Given the description of an element on the screen output the (x, y) to click on. 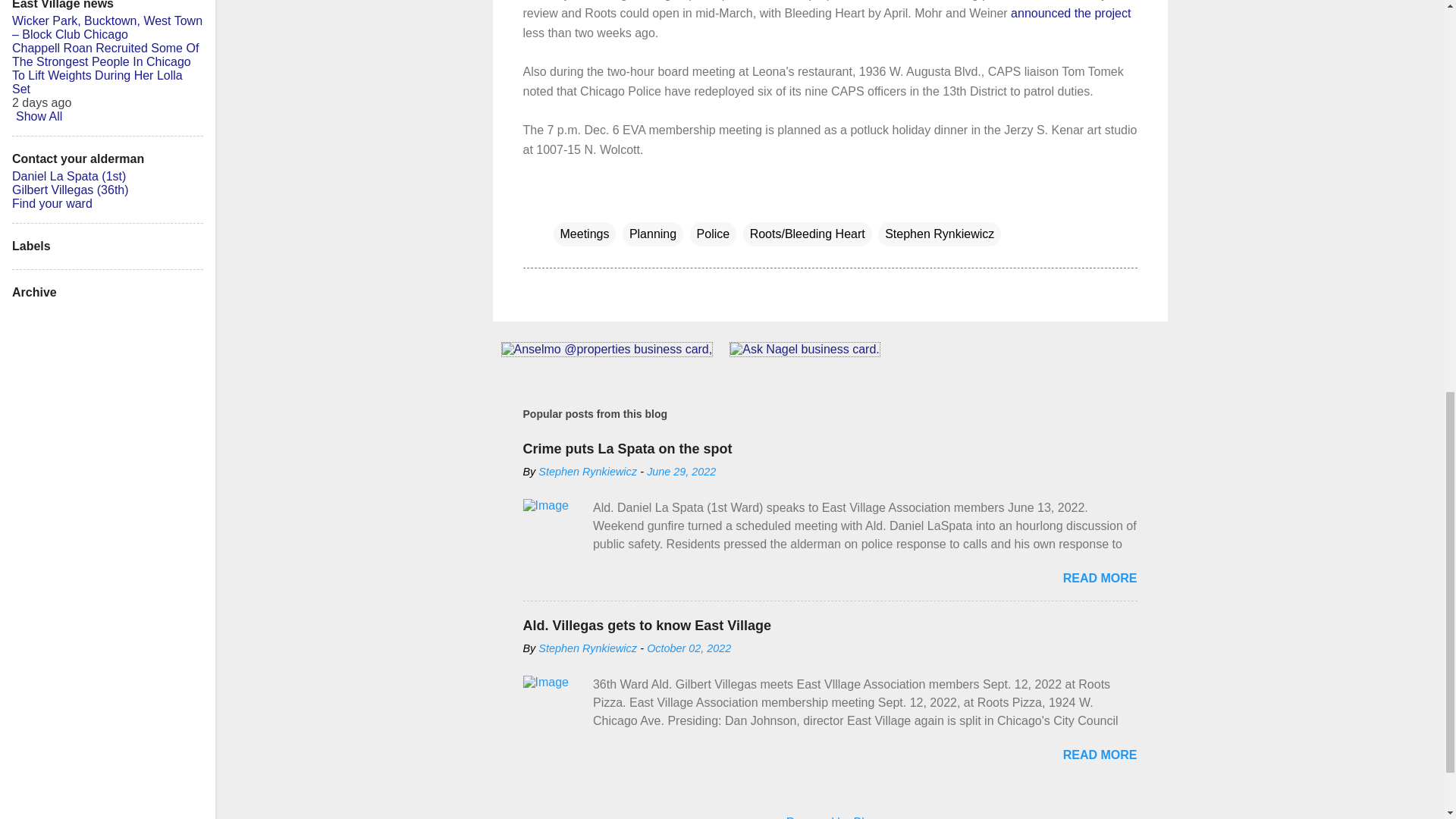
June 29, 2022 (681, 471)
Planning (652, 233)
Email Post (562, 203)
Police (713, 233)
announced the project (1070, 12)
Stephen Rynkiewicz (587, 648)
Meetings (584, 233)
Ald. Villegas gets to know East Village (646, 625)
Stephen Rynkiewicz (939, 233)
Powered by Blogger (829, 817)
